Given the description of an element on the screen output the (x, y) to click on. 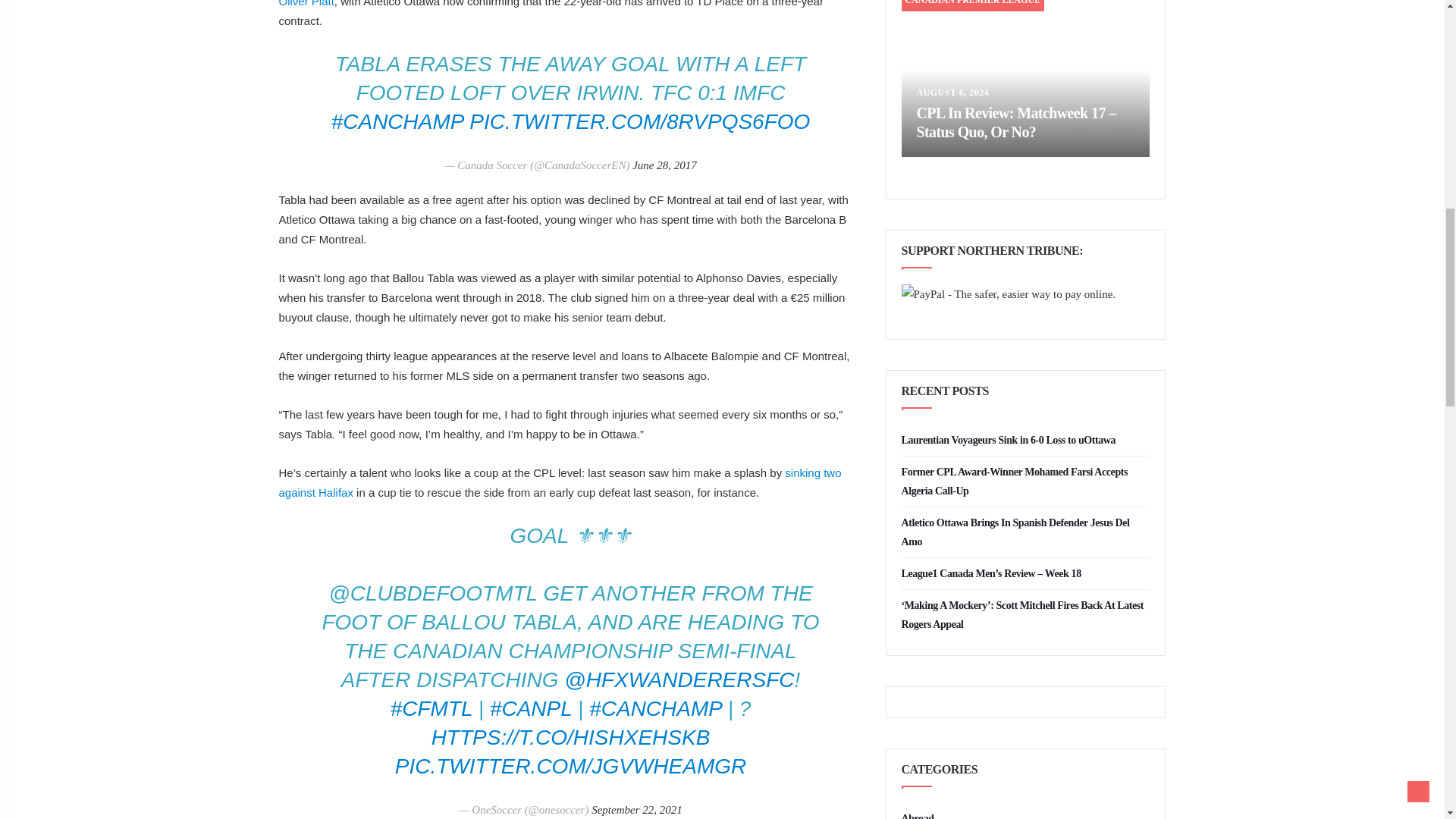
sinking two against Halifax (560, 482)
September 22, 2021 (636, 809)
teased by Oliver Platt (570, 3)
June 28, 2017 (664, 164)
